Given the description of an element on the screen output the (x, y) to click on. 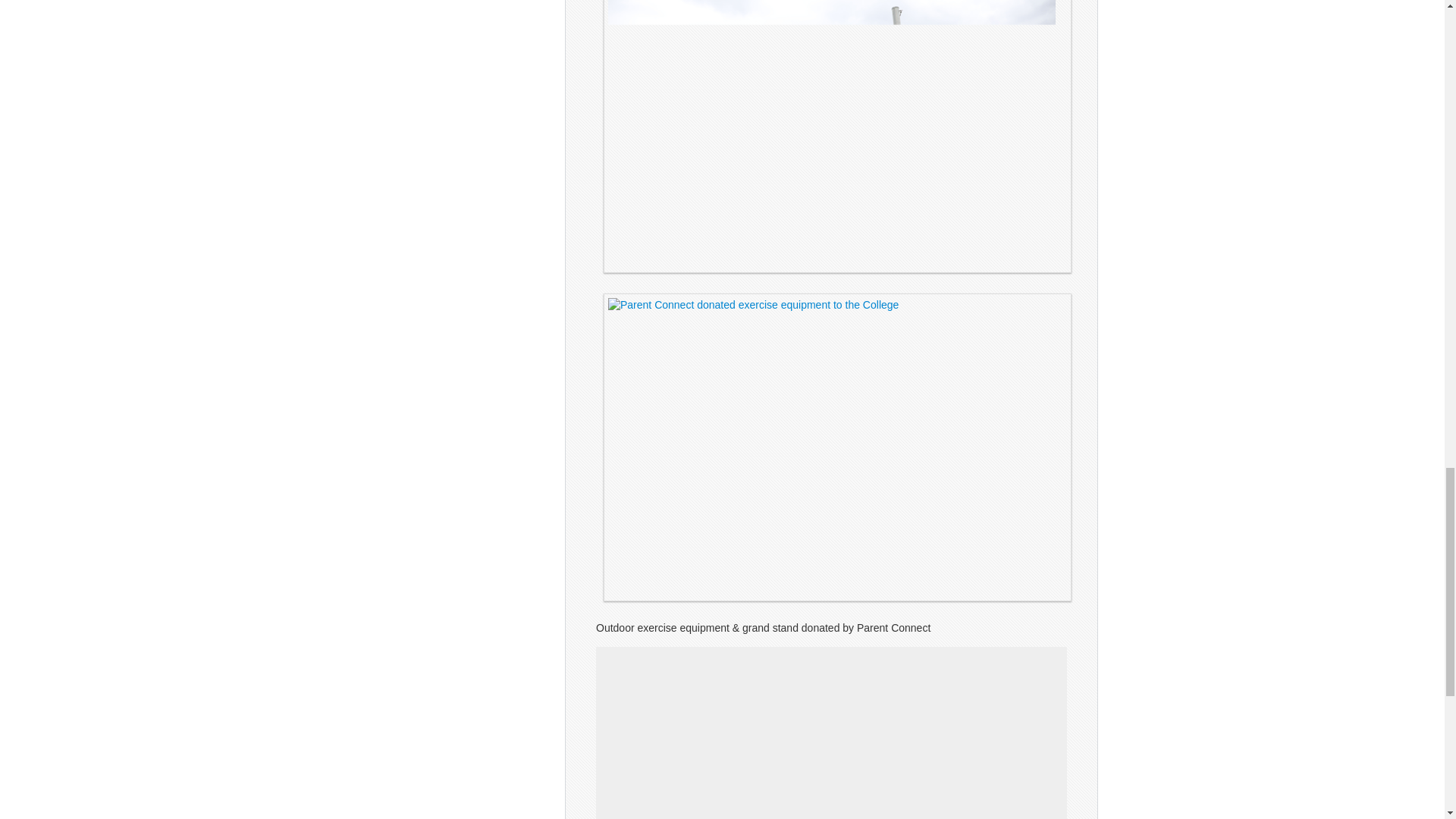
Parent Connect donated grandstand to College (837, 136)
